Given the description of an element on the screen output the (x, y) to click on. 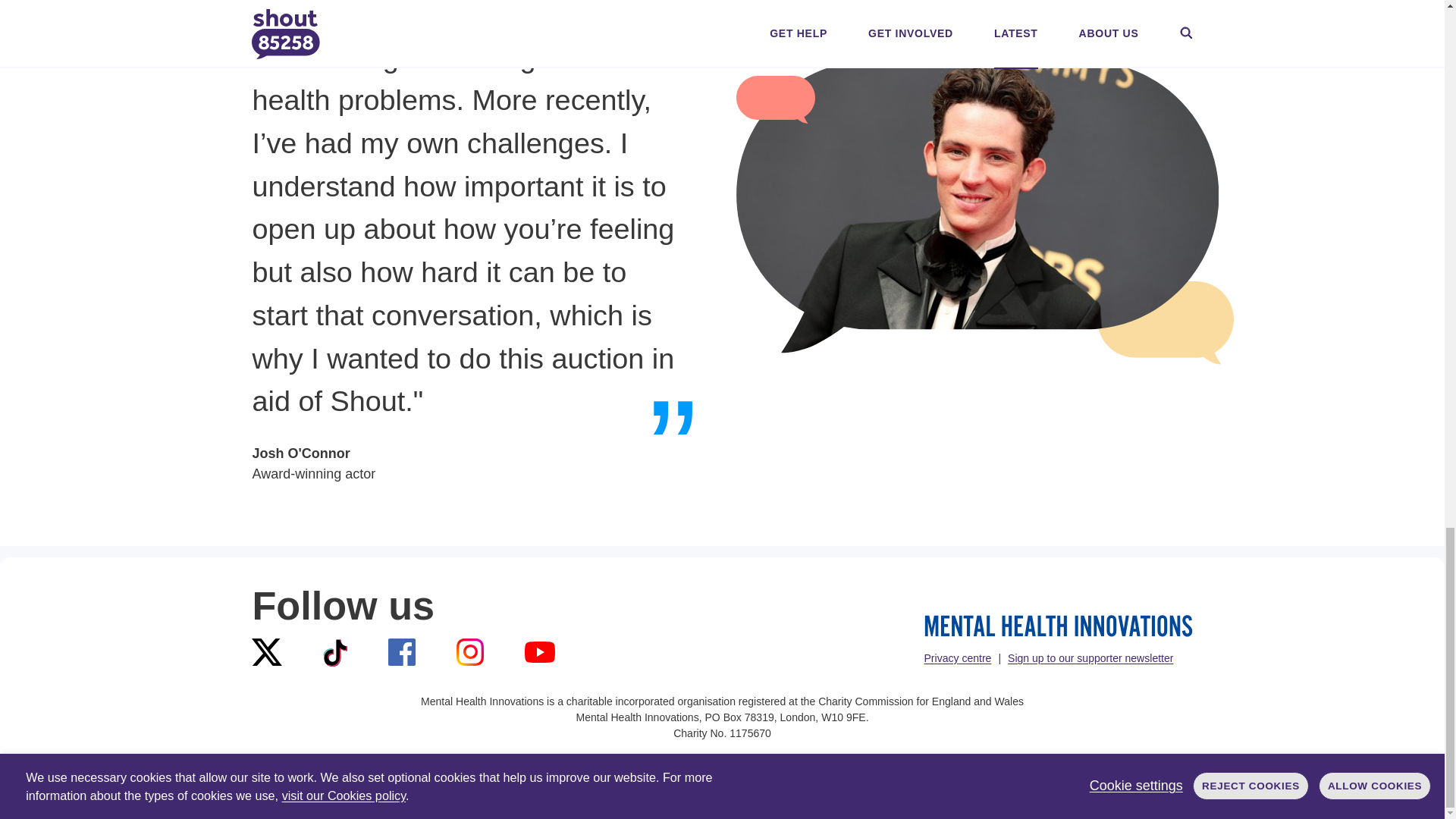
Privacy centre (957, 657)
Sign up to our supporter newsletter (1090, 657)
